Given the description of an element on the screen output the (x, y) to click on. 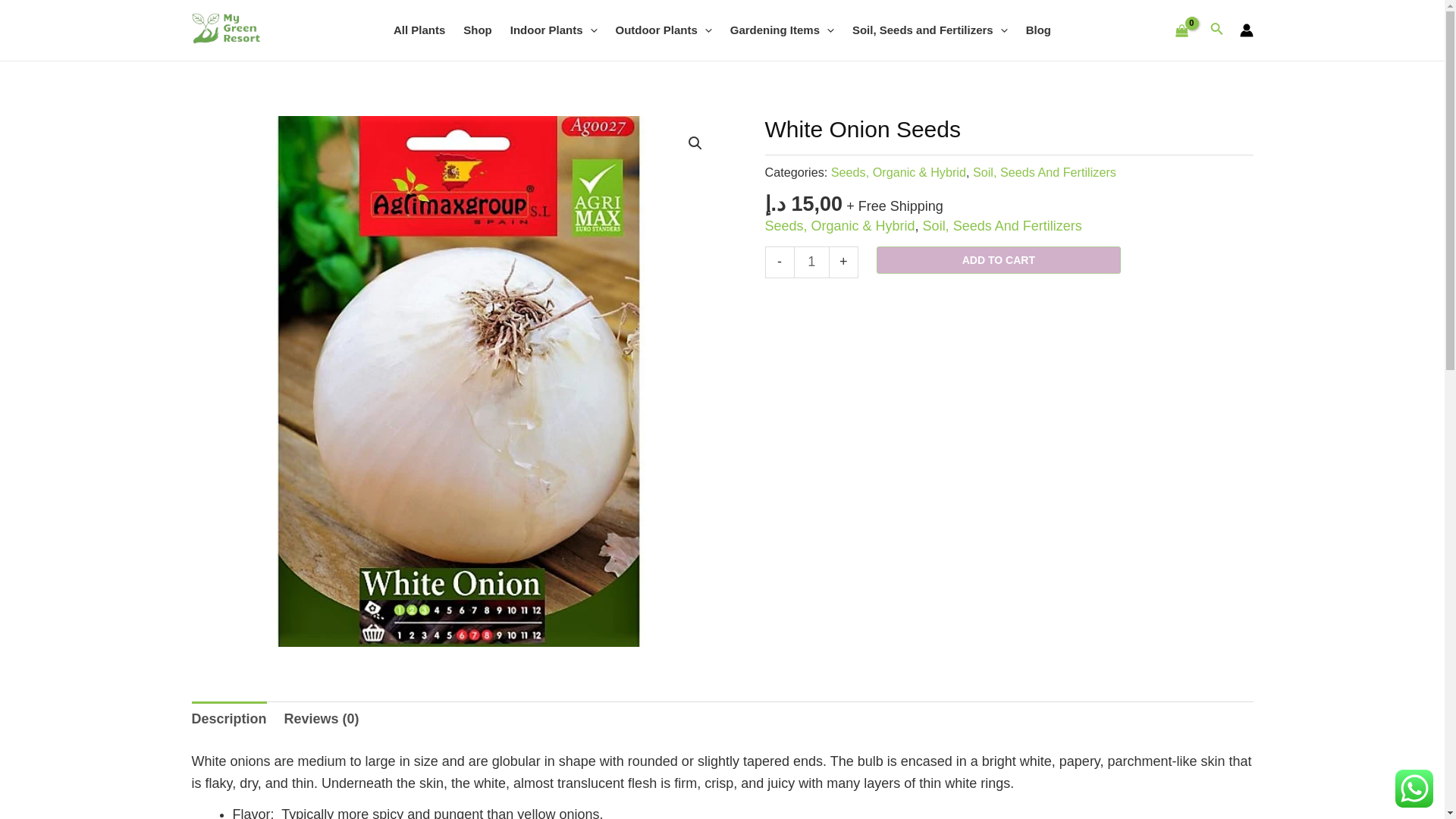
Gardening Items (781, 30)
All Plants (419, 30)
Outdoor Plants (663, 30)
1 (810, 262)
Soil, Seeds and Fertilizers (929, 30)
Shop (477, 30)
Indoor Plants (553, 30)
